Given the description of an element on the screen output the (x, y) to click on. 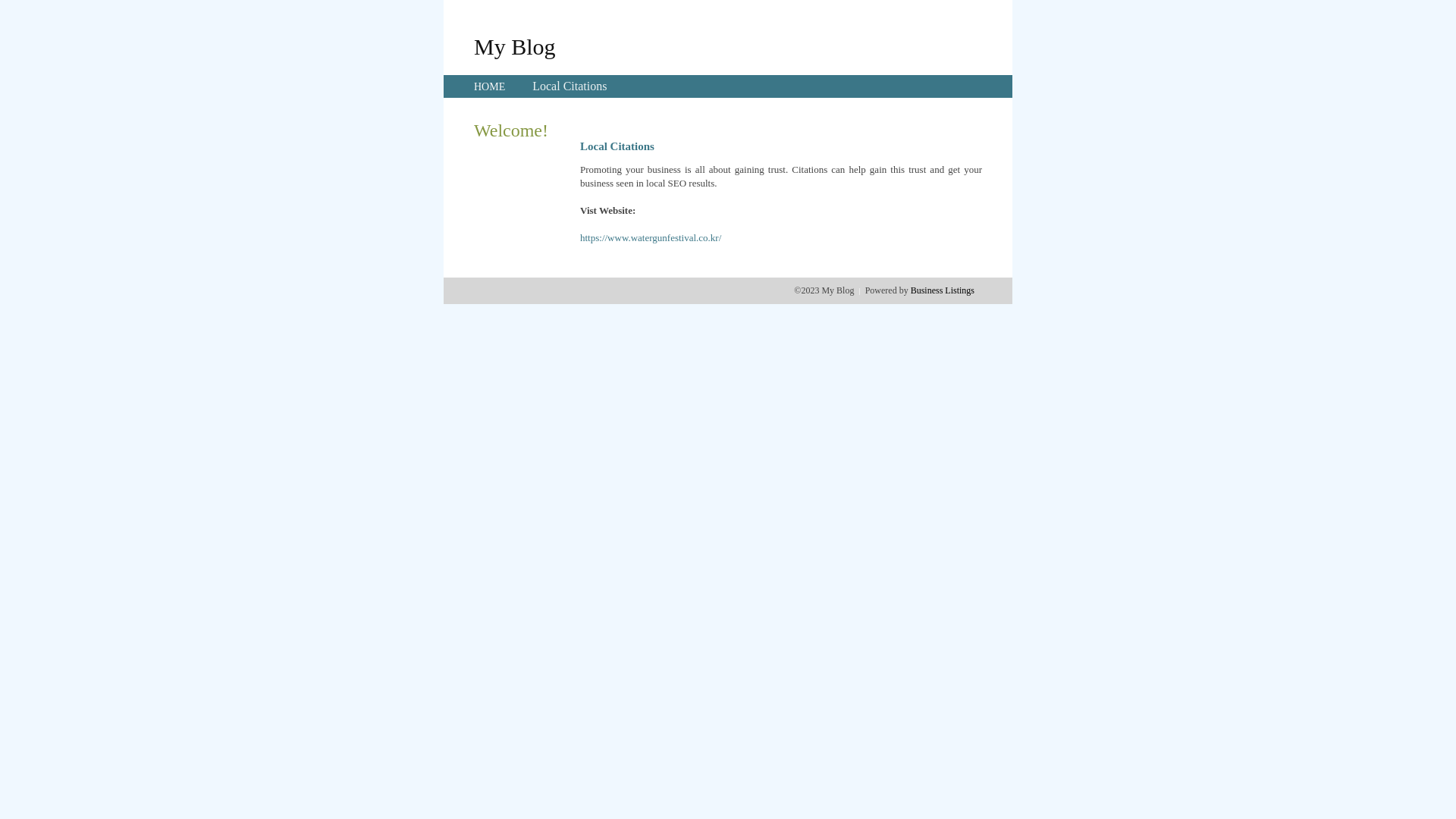
https://www.watergunfestival.co.kr/ Element type: text (650, 237)
Local Citations Element type: text (569, 85)
HOME Element type: text (489, 86)
Business Listings Element type: text (942, 290)
My Blog Element type: text (514, 46)
